Given the description of an element on the screen output the (x, y) to click on. 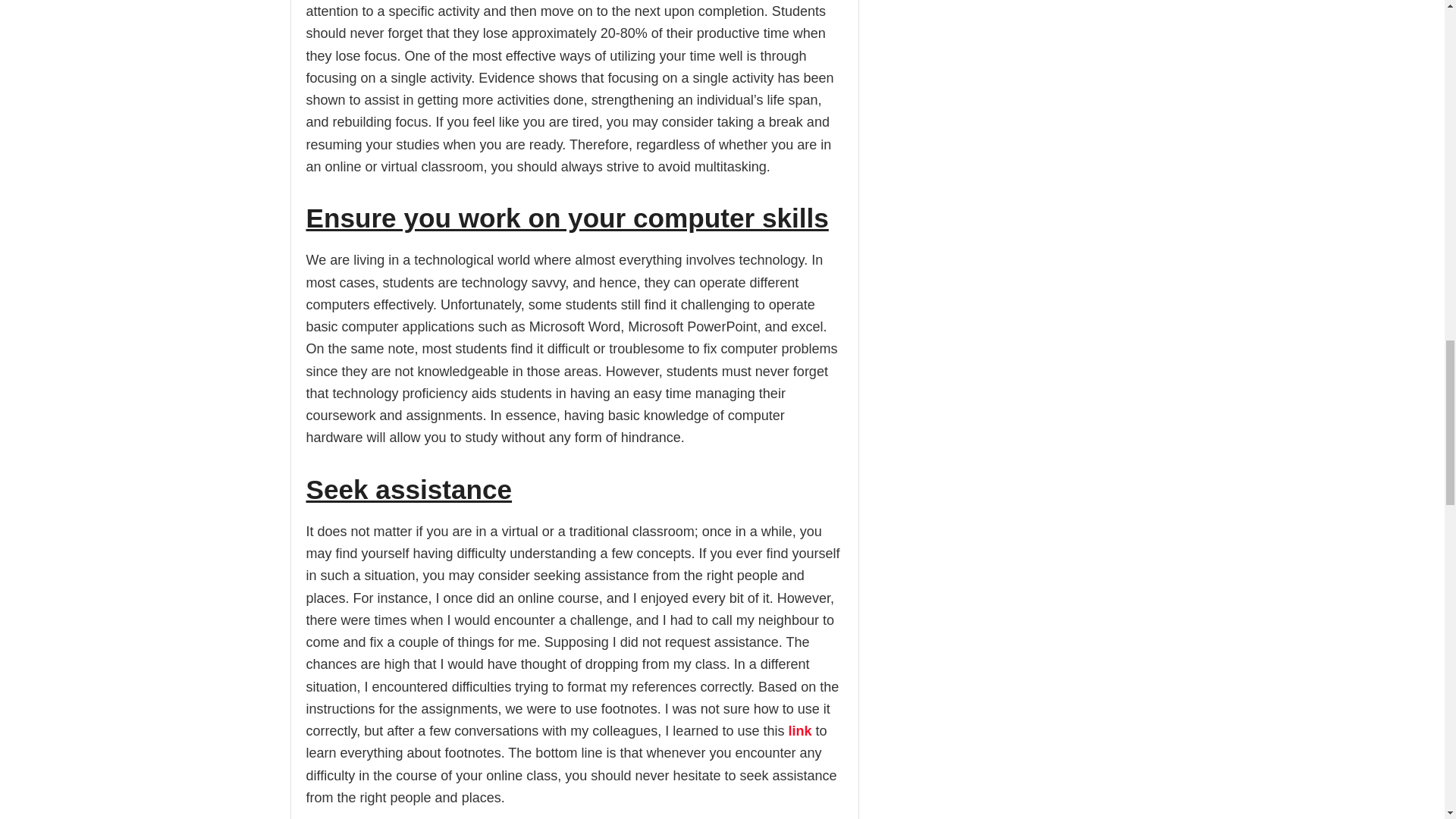
link (798, 730)
